Given the description of an element on the screen output the (x, y) to click on. 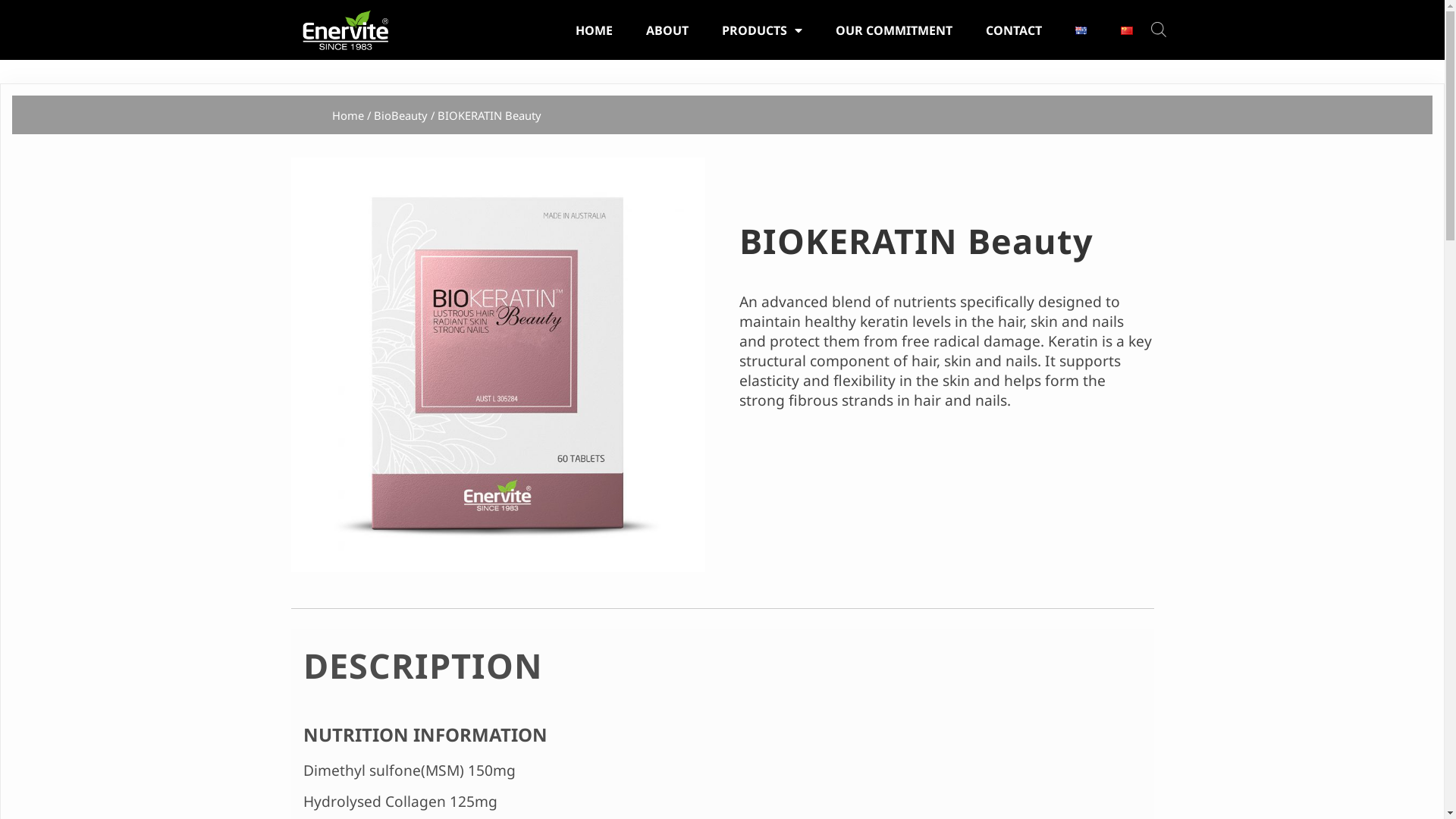
OUR COMMITMENT Element type: text (893, 29)
ABOUT Element type: text (666, 29)
LOGO Element type: hover (345, 29)
CONTACT Element type: text (1013, 29)
BioBeauty Element type: text (400, 114)
PRODUCTS Element type: text (761, 29)
Home Element type: text (348, 114)
HOME Element type: text (593, 29)
